Given the description of an element on the screen output the (x, y) to click on. 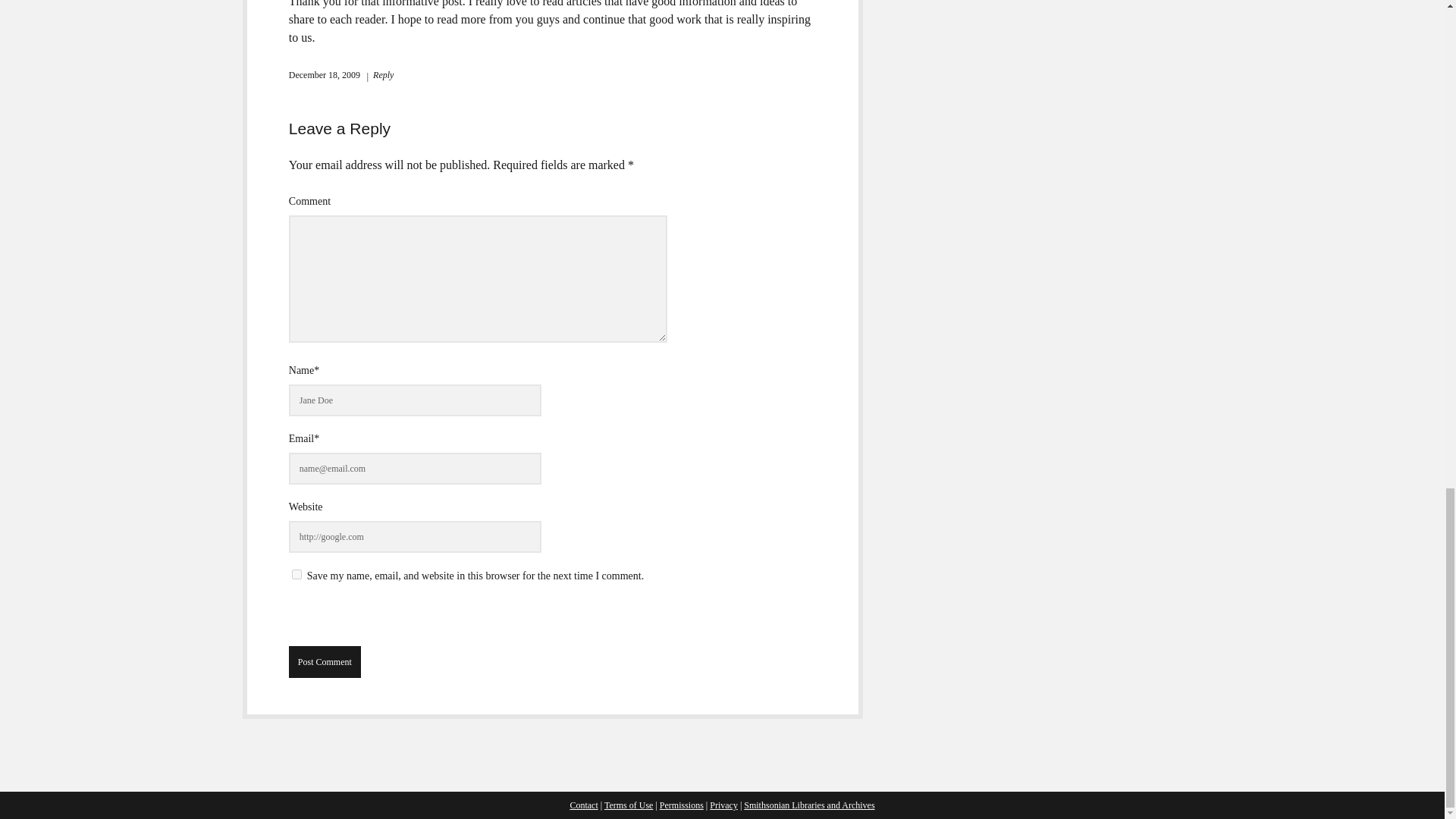
Reply (379, 74)
Terms of Use (628, 805)
Permissions (681, 805)
yes (296, 574)
Privacy (724, 805)
Contact (582, 805)
Post Comment (324, 662)
Post Comment (324, 662)
Smithsonian Libraries and Archives (809, 805)
